Given the description of an element on the screen output the (x, y) to click on. 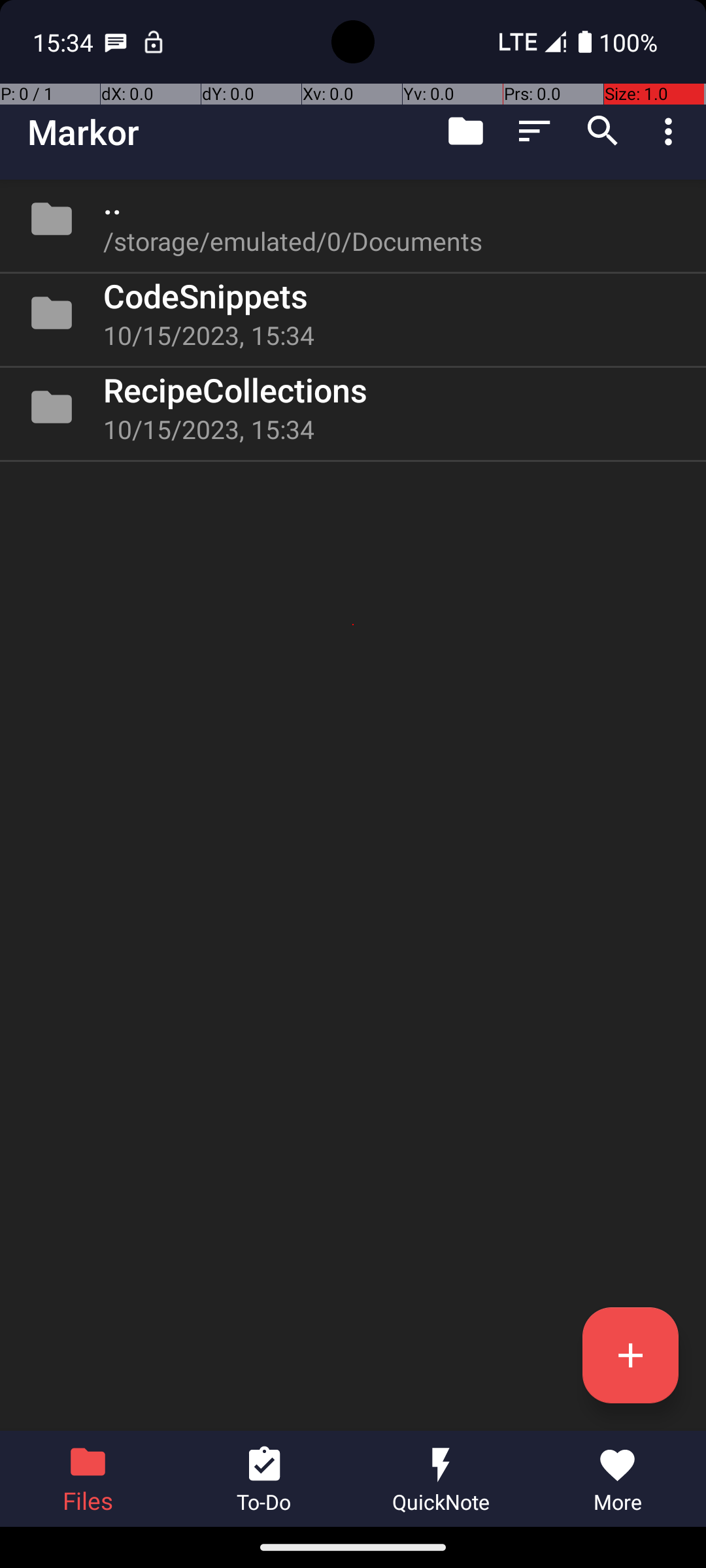
Folder CodeSnippets  Element type: android.widget.LinearLayout (353, 312)
Folder RecipeCollections  Element type: android.widget.LinearLayout (353, 406)
